Given the description of an element on the screen output the (x, y) to click on. 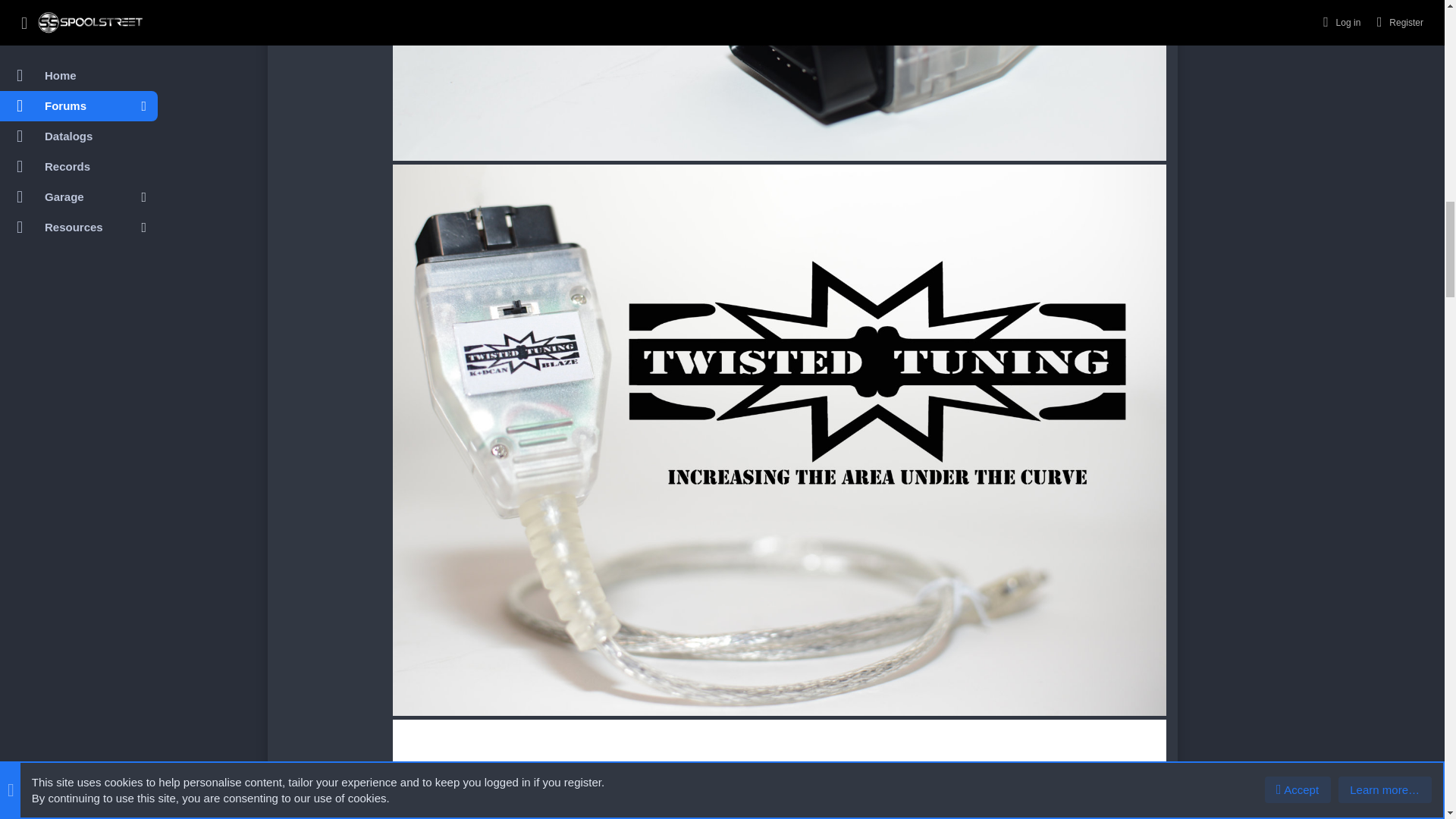
Twisted Tuning Blaze Cable 3.jpg (779, 80)
Twisted Tuning Blaze Cable 3.jpg (779, 82)
